Given the description of an element on the screen output the (x, y) to click on. 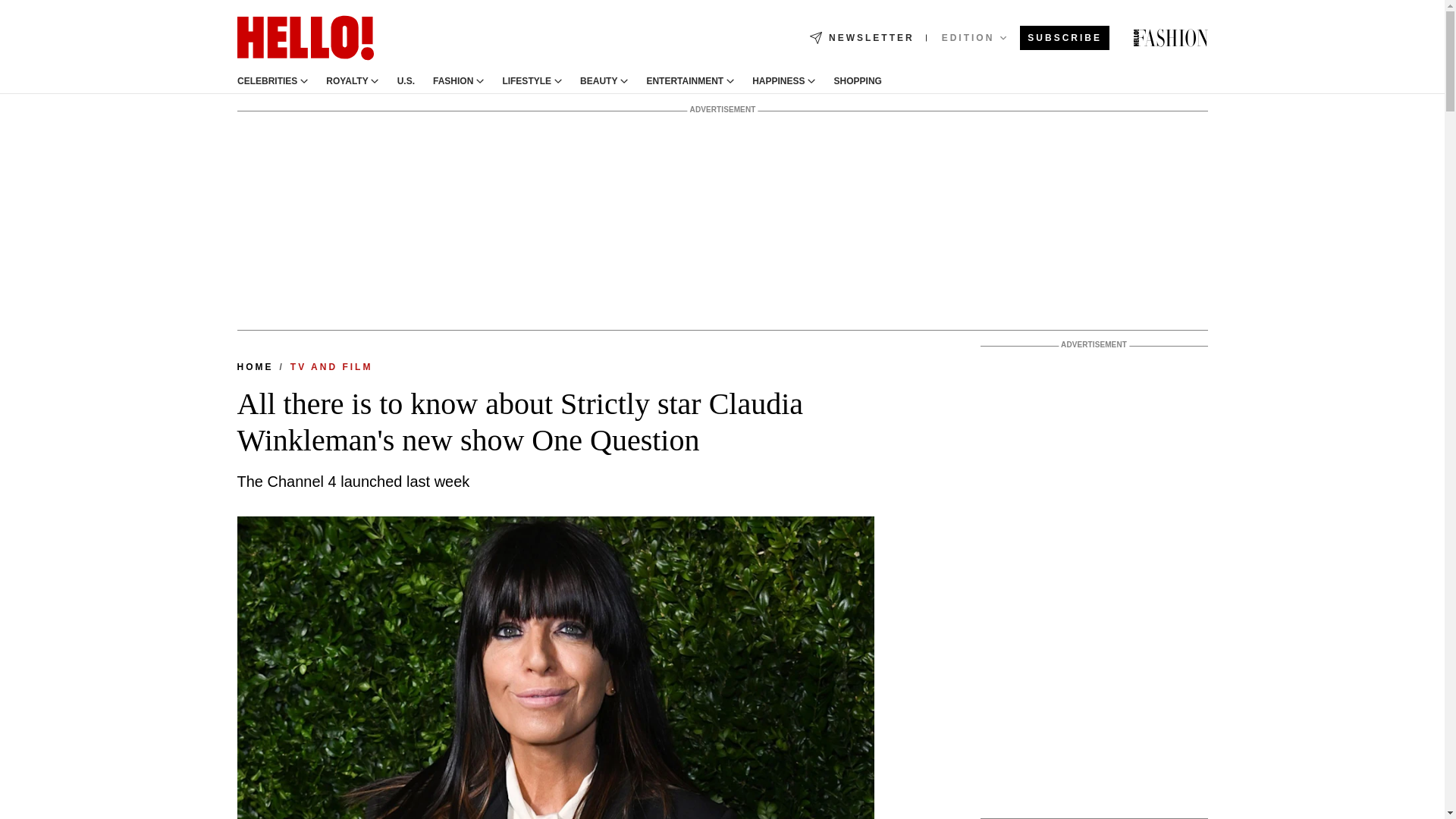
ROYALTY (347, 81)
FASHION (452, 81)
CELEBRITIES (266, 81)
U.S. (404, 81)
NEWSLETTER (861, 38)
BEAUTY (598, 81)
